Given the description of an element on the screen output the (x, y) to click on. 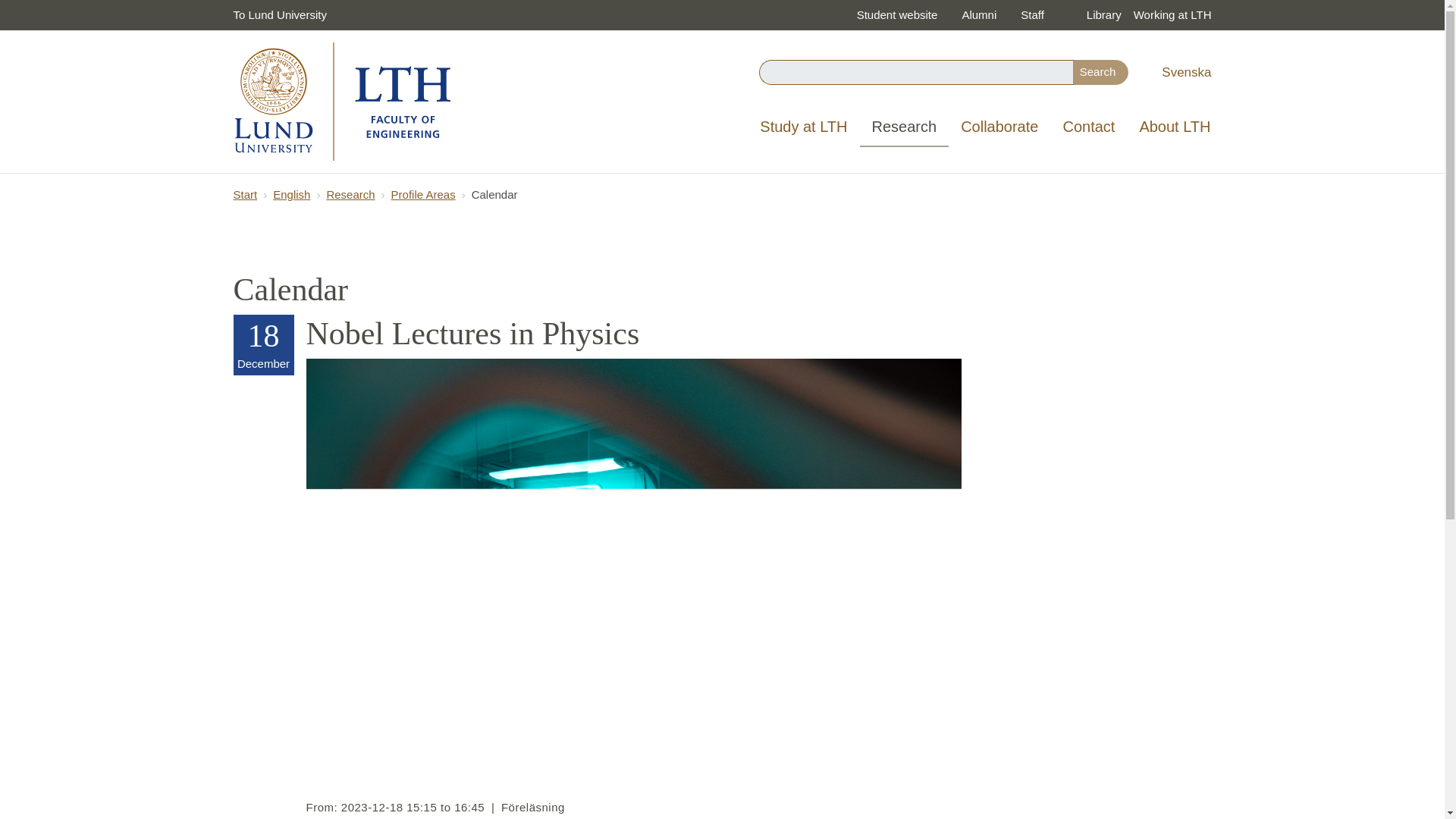
Research (904, 126)
Search (1101, 72)
Contact (1087, 126)
Alumni (979, 15)
Working at LTH (1171, 15)
Svenska (1184, 72)
Student website (897, 15)
FACULTY OF ENGINEERING LTH (342, 101)
Library (1103, 15)
Research (904, 126)
